Given the description of an element on the screen output the (x, y) to click on. 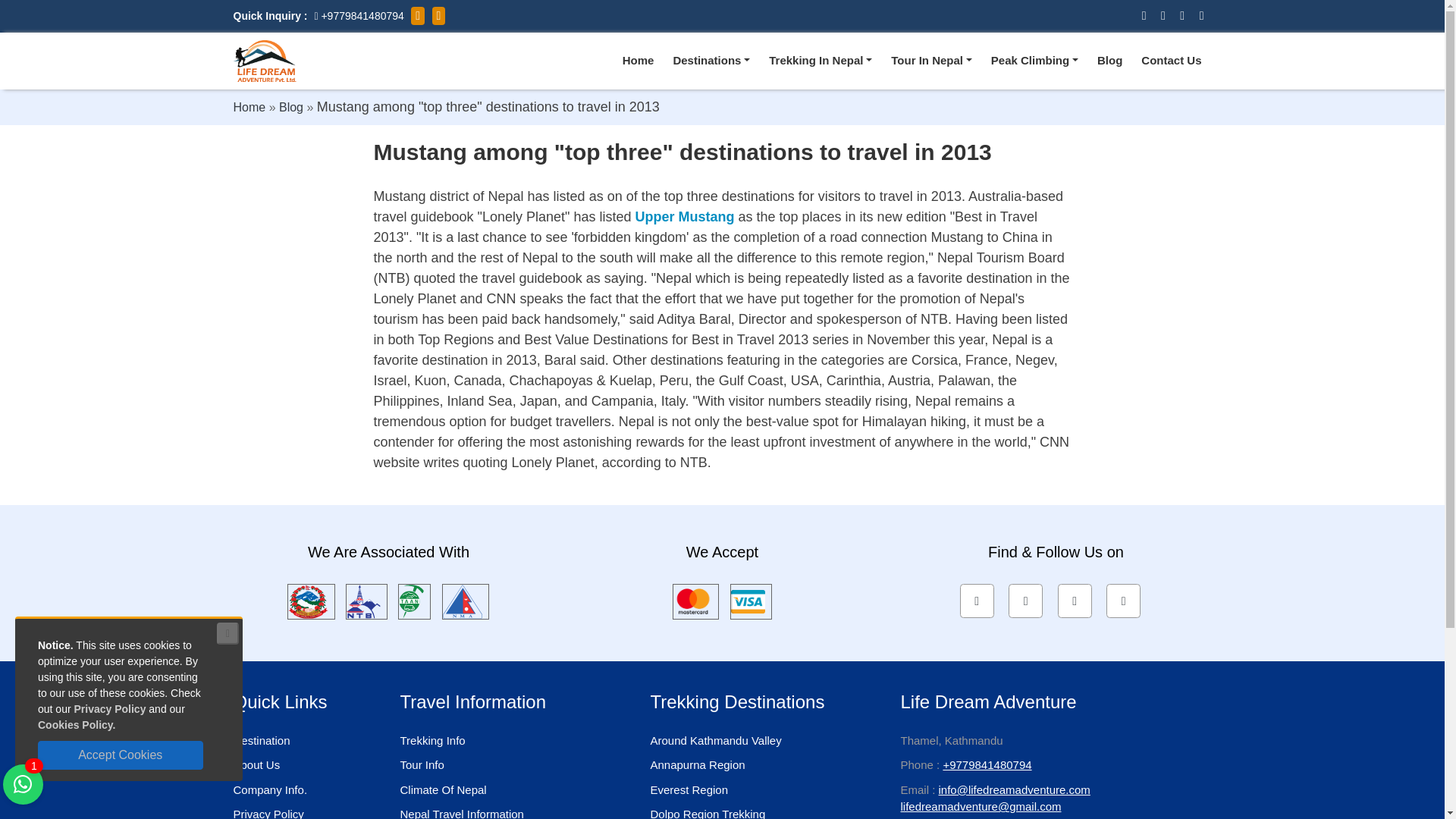
Upper Mustang Trek (684, 216)
Master Card (694, 600)
Nepal Tourism Board (365, 600)
Nepal Mountaineering Association (465, 600)
Home (637, 60)
Destinations (710, 60)
TAAN (413, 600)
Visa card (750, 600)
Tourism Ministry of Nepal (310, 600)
